Given the description of an element on the screen output the (x, y) to click on. 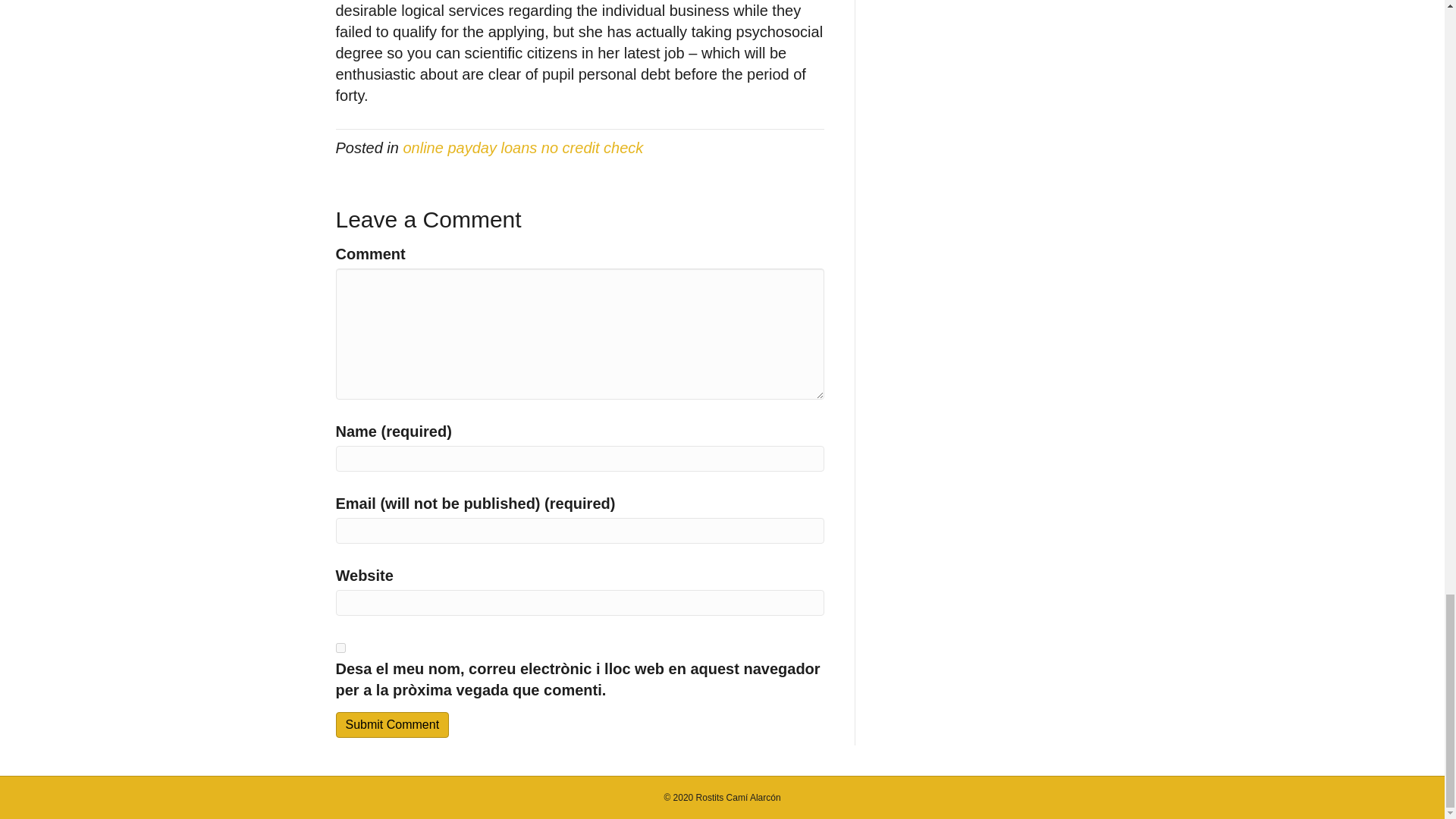
online payday loans no credit check (523, 147)
yes (339, 647)
Submit Comment (391, 724)
Submit Comment (391, 724)
